Given the description of an element on the screen output the (x, y) to click on. 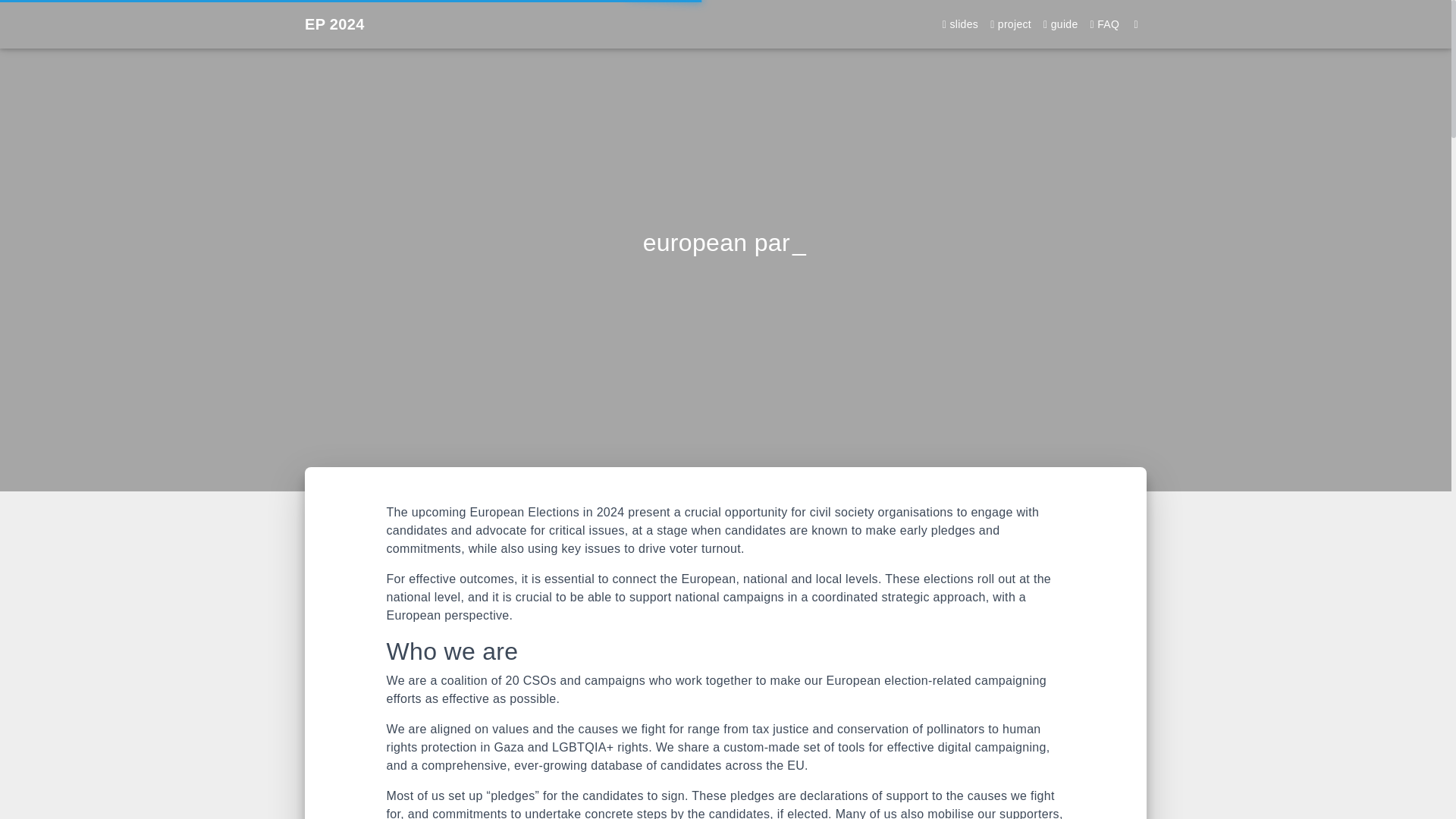
guide (1060, 24)
FAQ (1104, 24)
EP 2024 (334, 24)
slides (960, 24)
project (1010, 24)
